Given the description of an element on the screen output the (x, y) to click on. 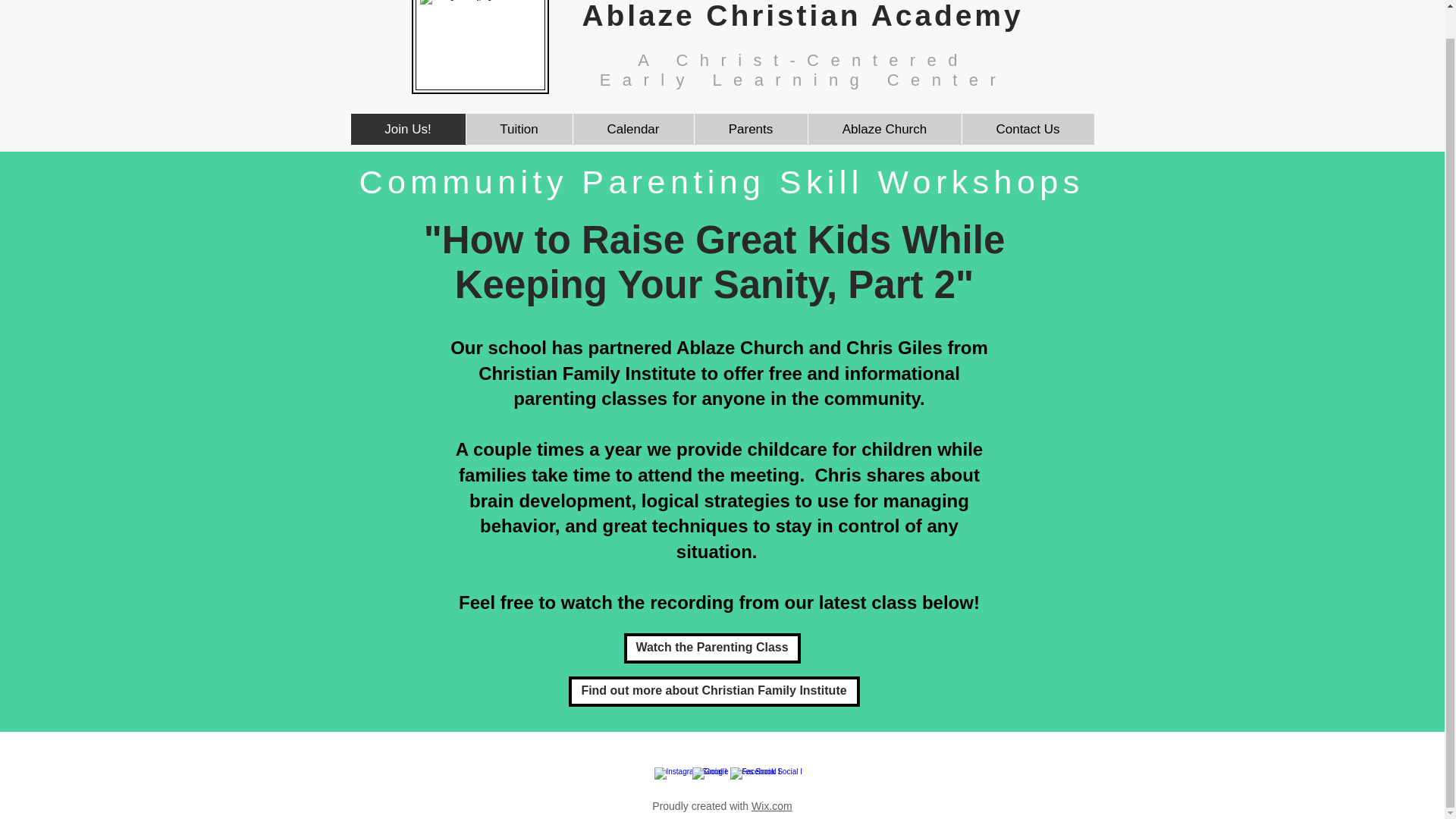
Find out more about Christian Family Institute (714, 691)
Watch the Parenting Class (711, 648)
Parents (749, 128)
Tuition (518, 128)
Calendar (632, 128)
Ablaze Christian Academy (802, 15)
Wix.com (771, 806)
Ablaze Church (883, 128)
Contact Us (1027, 128)
Join Us! (407, 128)
